Given the description of an element on the screen output the (x, y) to click on. 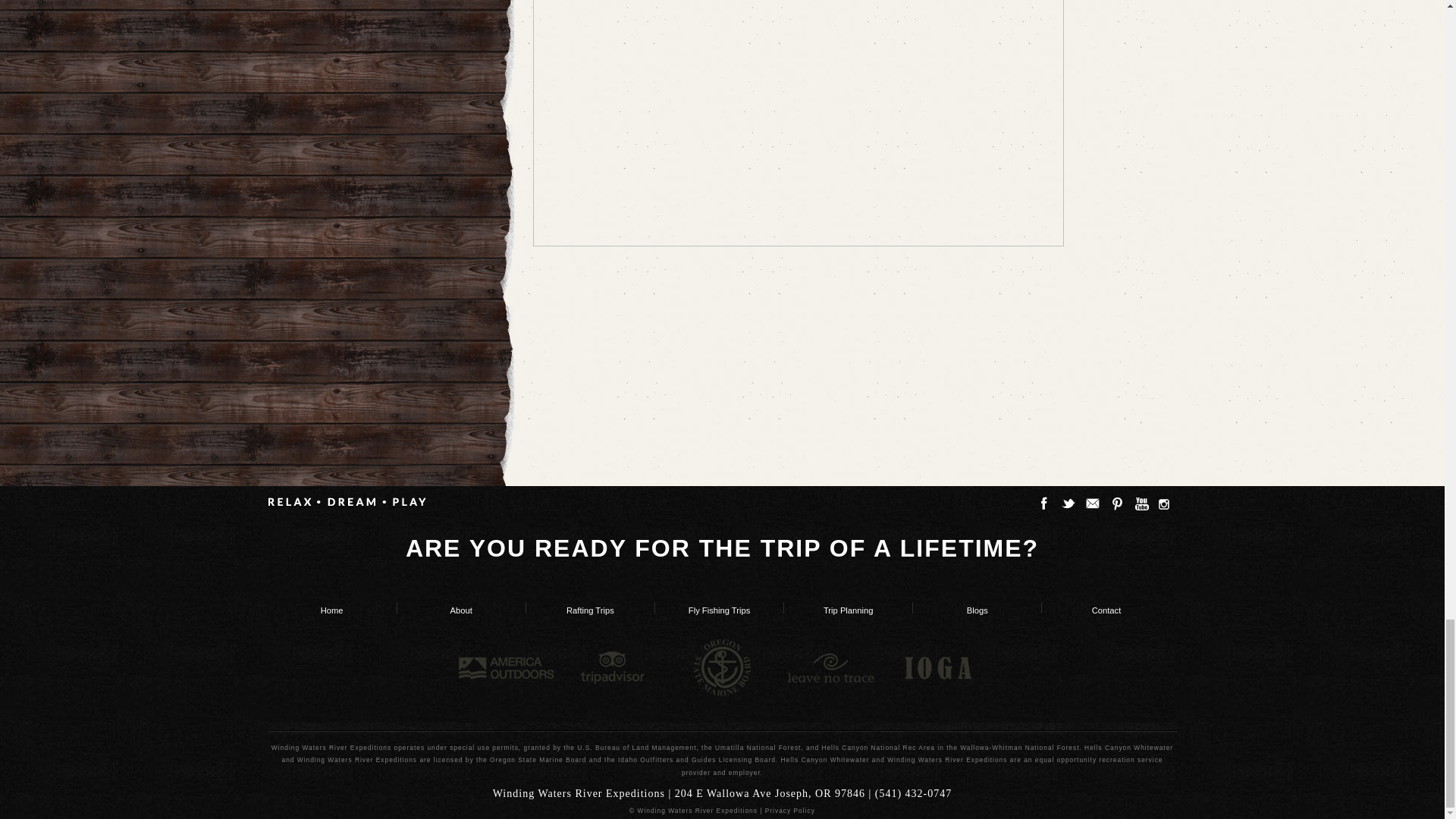
Twitter (1067, 503)
Facebook (1042, 503)
Pintrest (1115, 503)
Email (1091, 503)
